Given the description of an element on the screen output the (x, y) to click on. 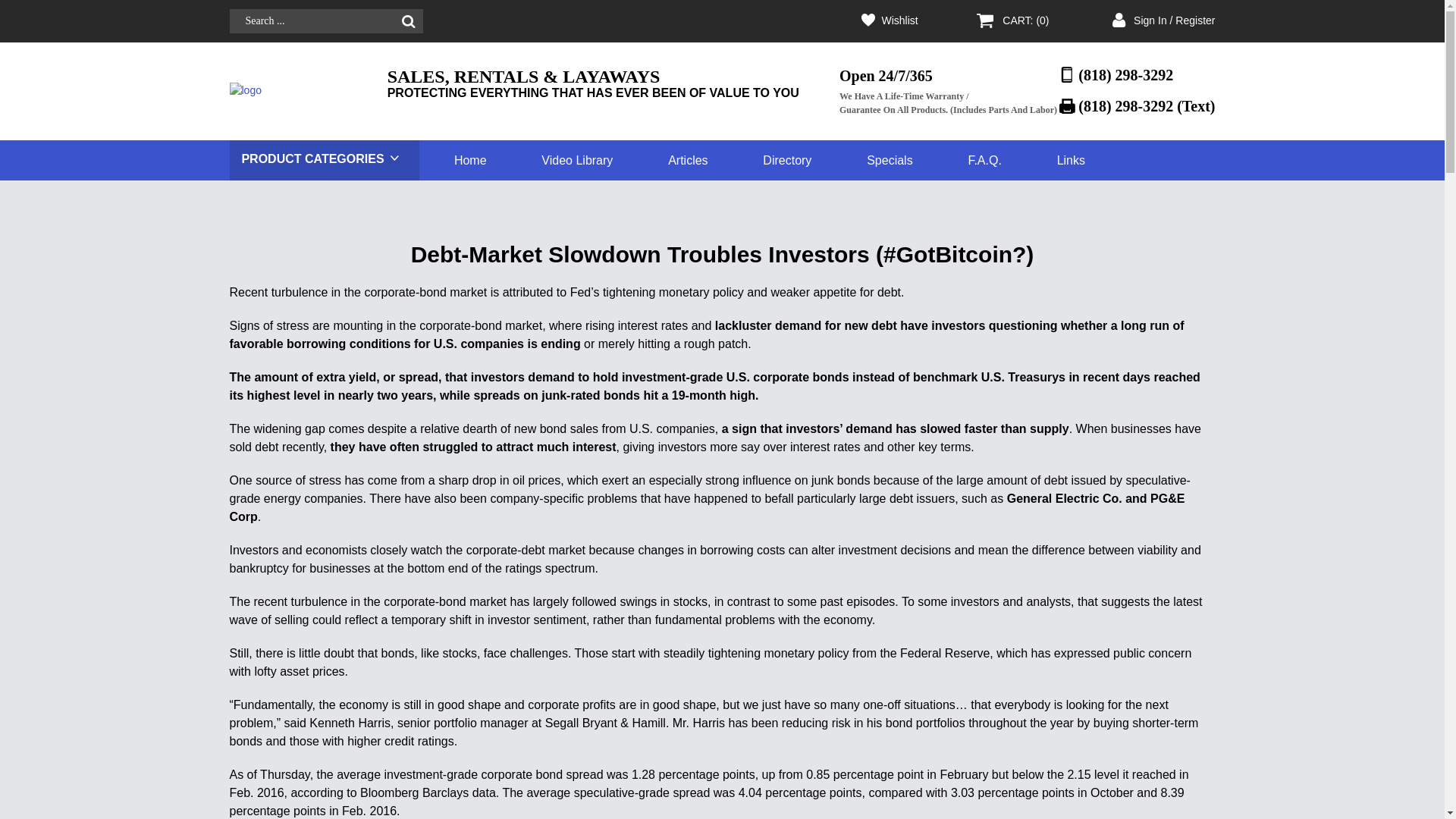
Home (470, 159)
Wishlist (898, 21)
Specials (889, 159)
Directory (786, 159)
Articles (687, 159)
Video Library (576, 159)
F.A.Q. (984, 159)
View your shopping cart (1025, 21)
Links (1070, 159)
